Given the description of an element on the screen output the (x, y) to click on. 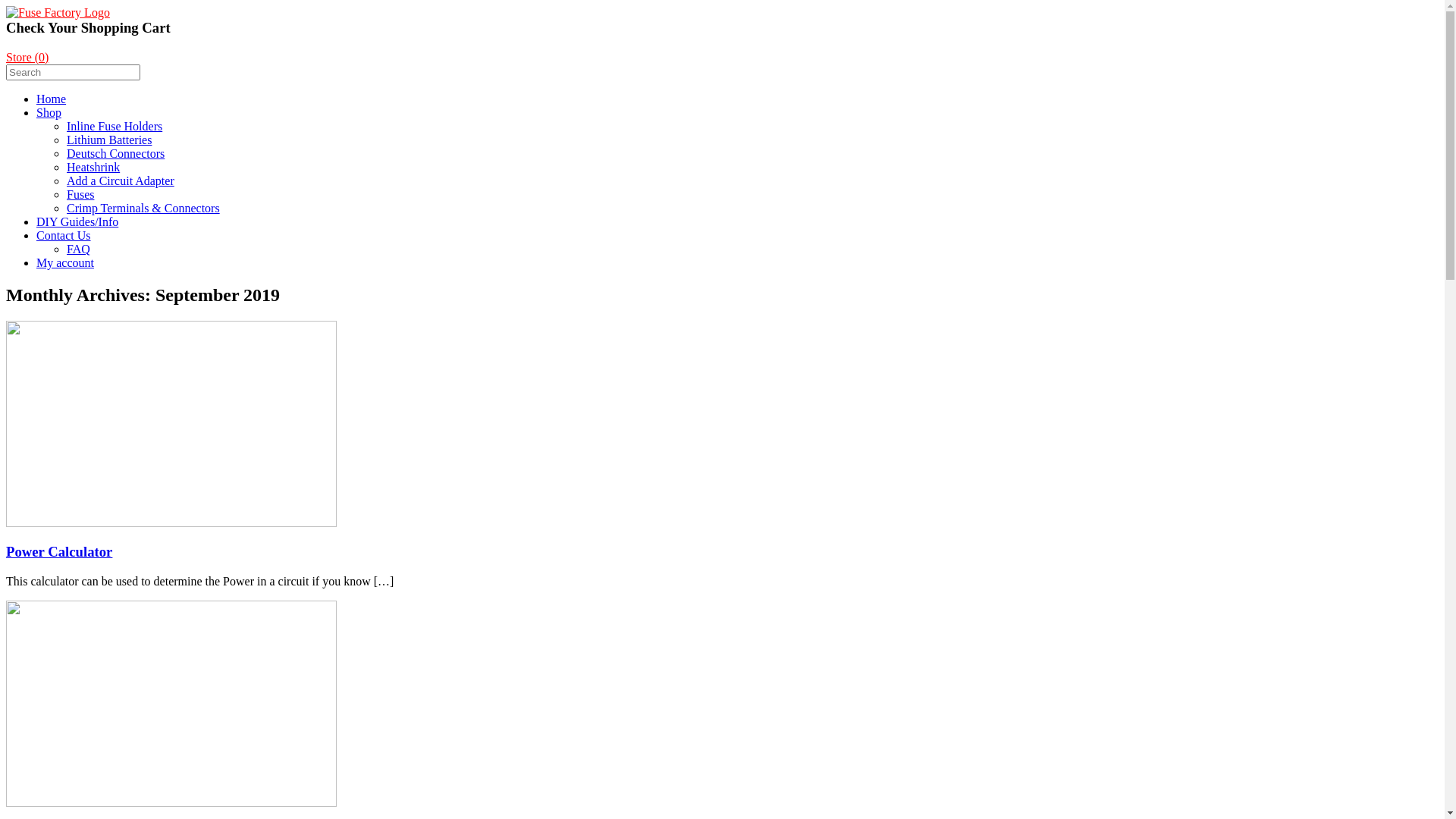
Lithium Batteries Element type: text (108, 139)
Store (0) Element type: text (27, 56)
Add a Circuit Adapter Element type: text (120, 180)
FAQ Element type: text (78, 248)
Fuses Element type: text (80, 194)
Fuse Factory Element type: hover (57, 12)
Contact Us Element type: text (63, 235)
Inline Fuse Holders Element type: text (114, 125)
Crimp Terminals & Connectors Element type: text (142, 207)
My account Element type: text (65, 262)
Deutsch Connectors Element type: text (115, 153)
DIY Guides/Info Element type: text (77, 221)
Power Calculator Element type: text (59, 551)
Heatshrink Element type: text (92, 166)
Home Element type: text (50, 98)
Shop Element type: text (48, 112)
